Given the description of an element on the screen output the (x, y) to click on. 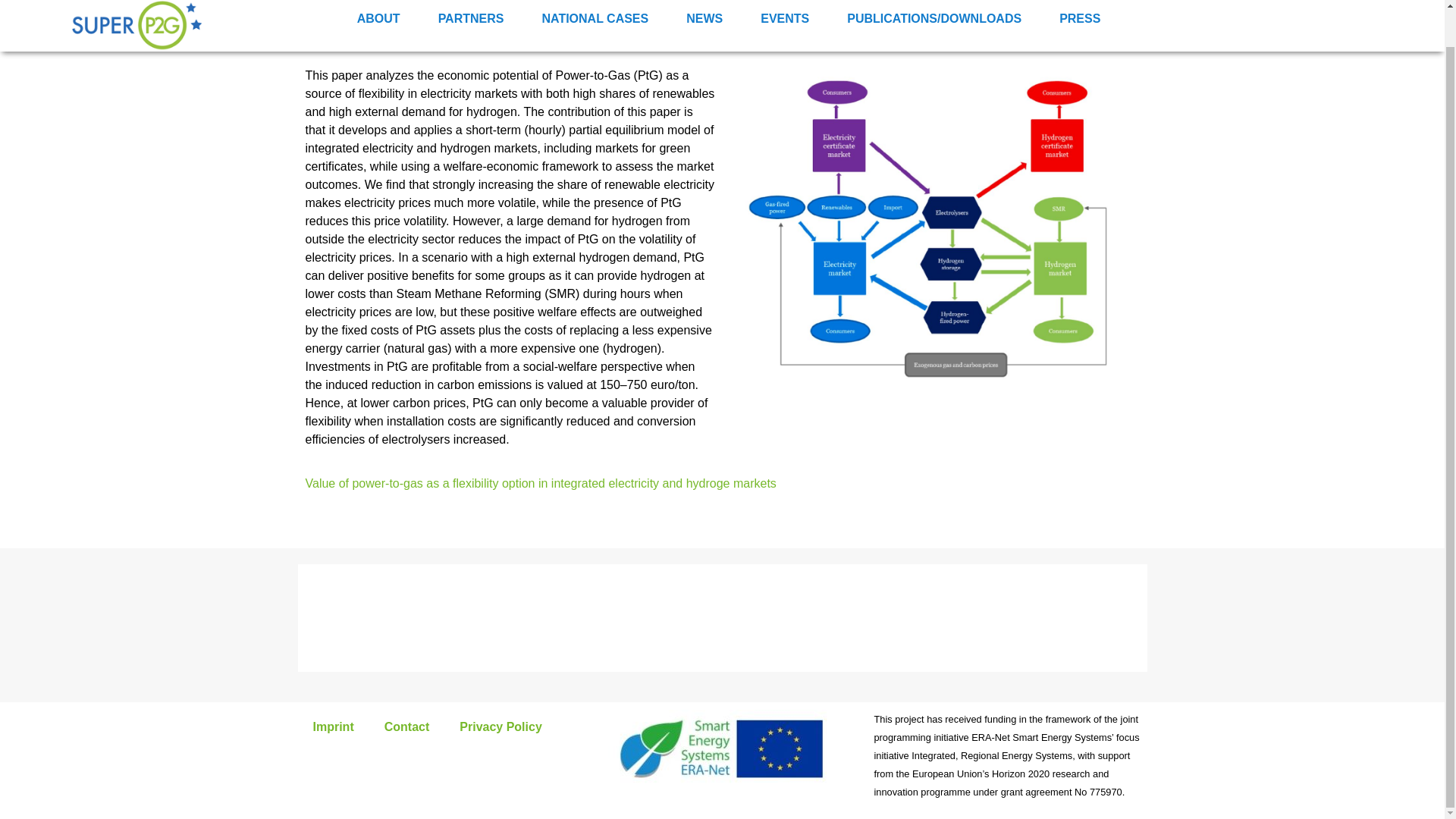
PRESS (1079, 18)
Privacy Policy (500, 727)
EVENTS (784, 18)
Imprint (332, 727)
NEWS (703, 18)
Contact (407, 727)
NATIONAL CASES (594, 18)
ABOUT (378, 18)
PARTNERS (470, 18)
